Given the description of an element on the screen output the (x, y) to click on. 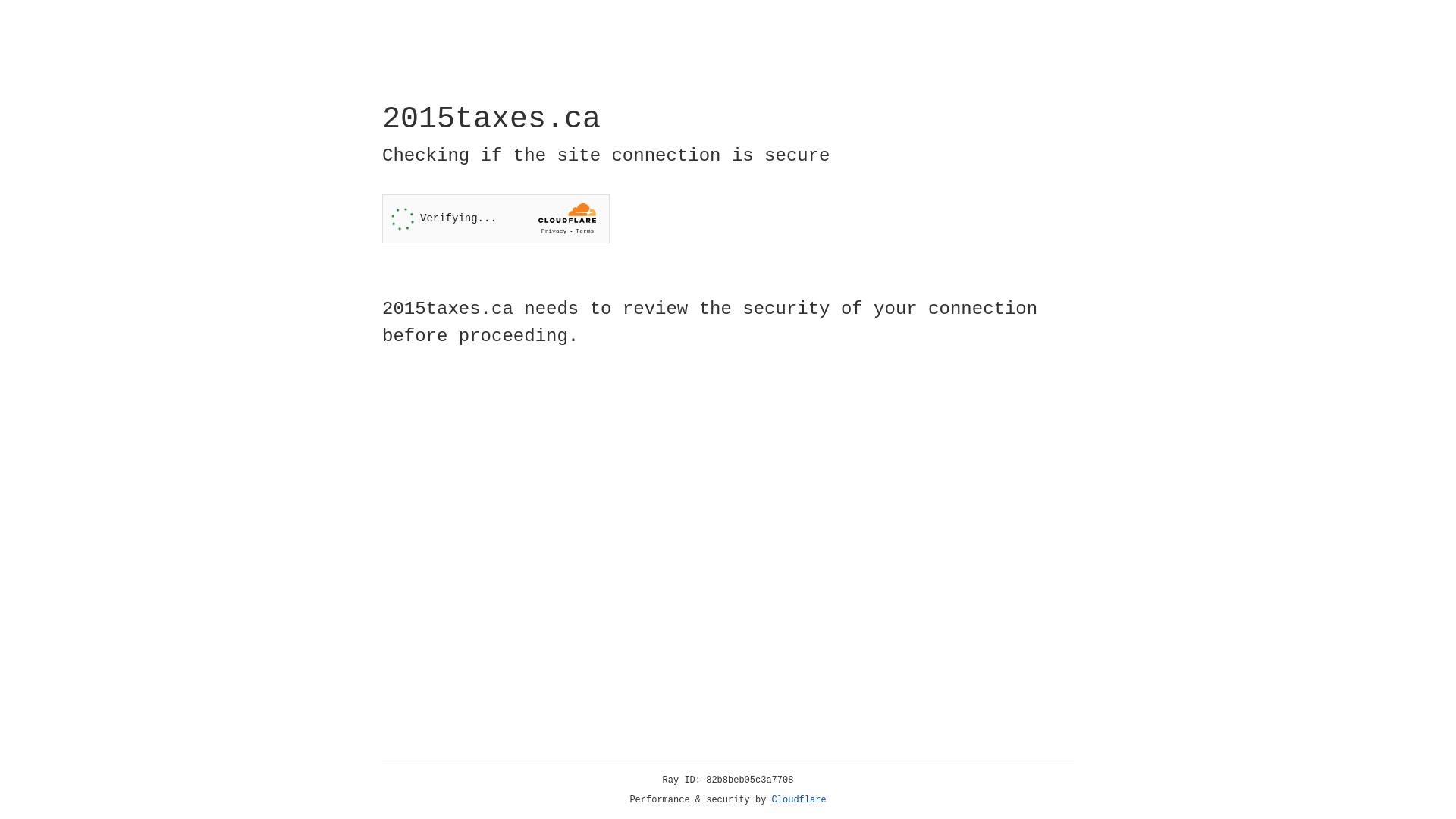
Cloudflare Element type: text (798, 799)
Widget containing a Cloudflare security challenge Element type: hover (495, 218)
